Given the description of an element on the screen output the (x, y) to click on. 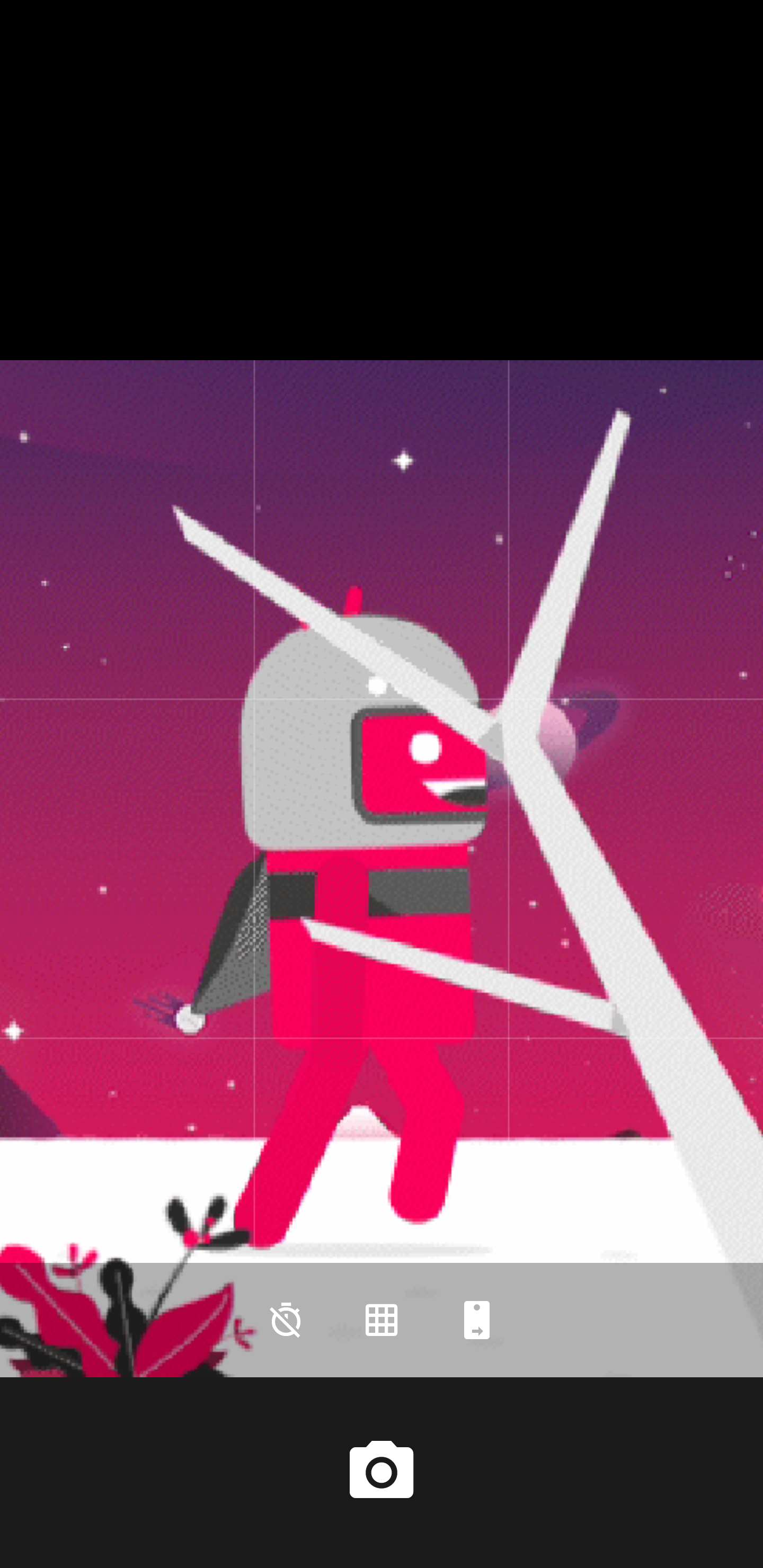
Countdown timer is off (285, 1319)
Grid lines on (381, 1319)
Back camera (476, 1319)
Shutter (381, 1472)
